Given the description of an element on the screen output the (x, y) to click on. 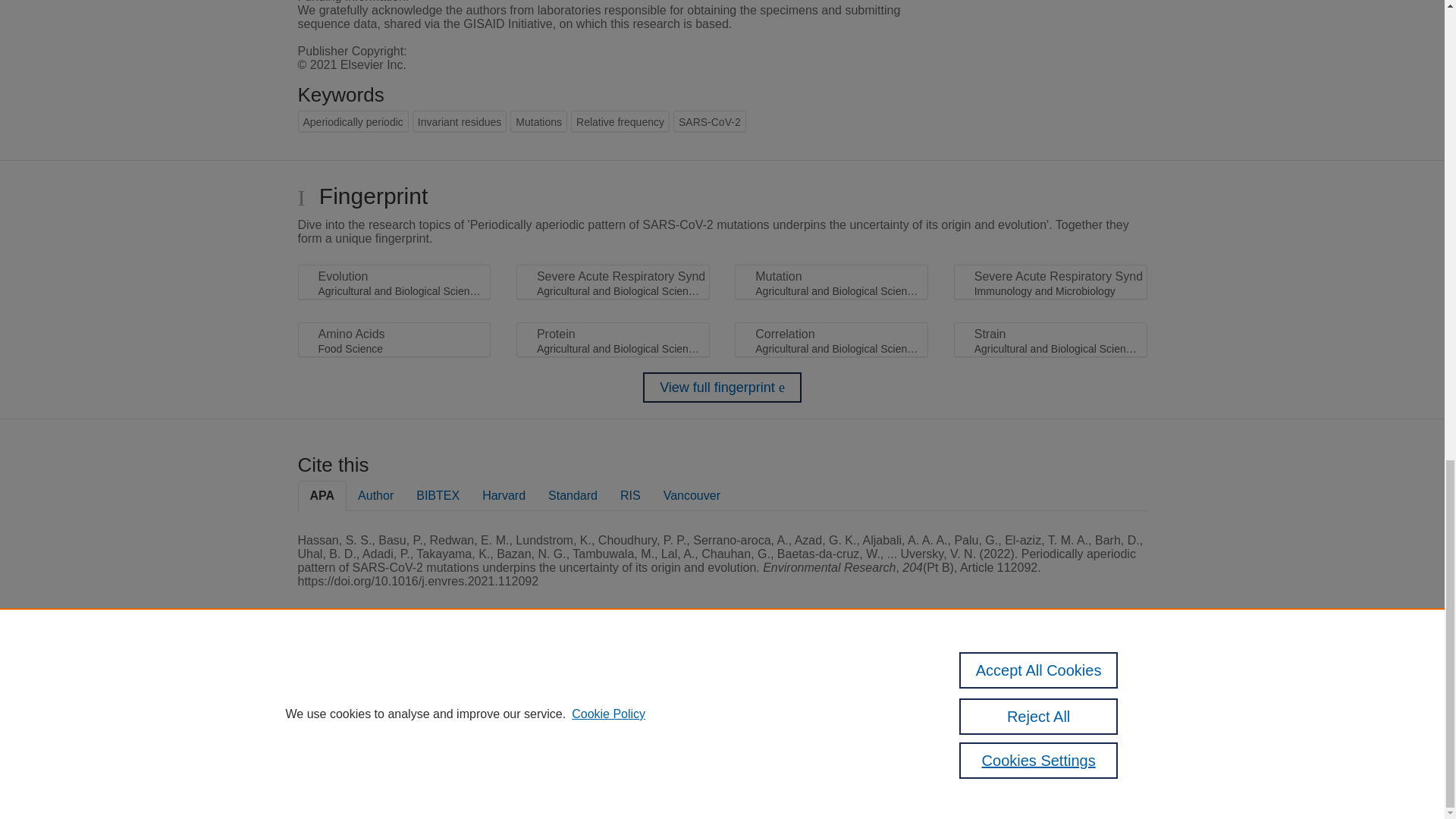
View full fingerprint (722, 387)
